Given the description of an element on the screen output the (x, y) to click on. 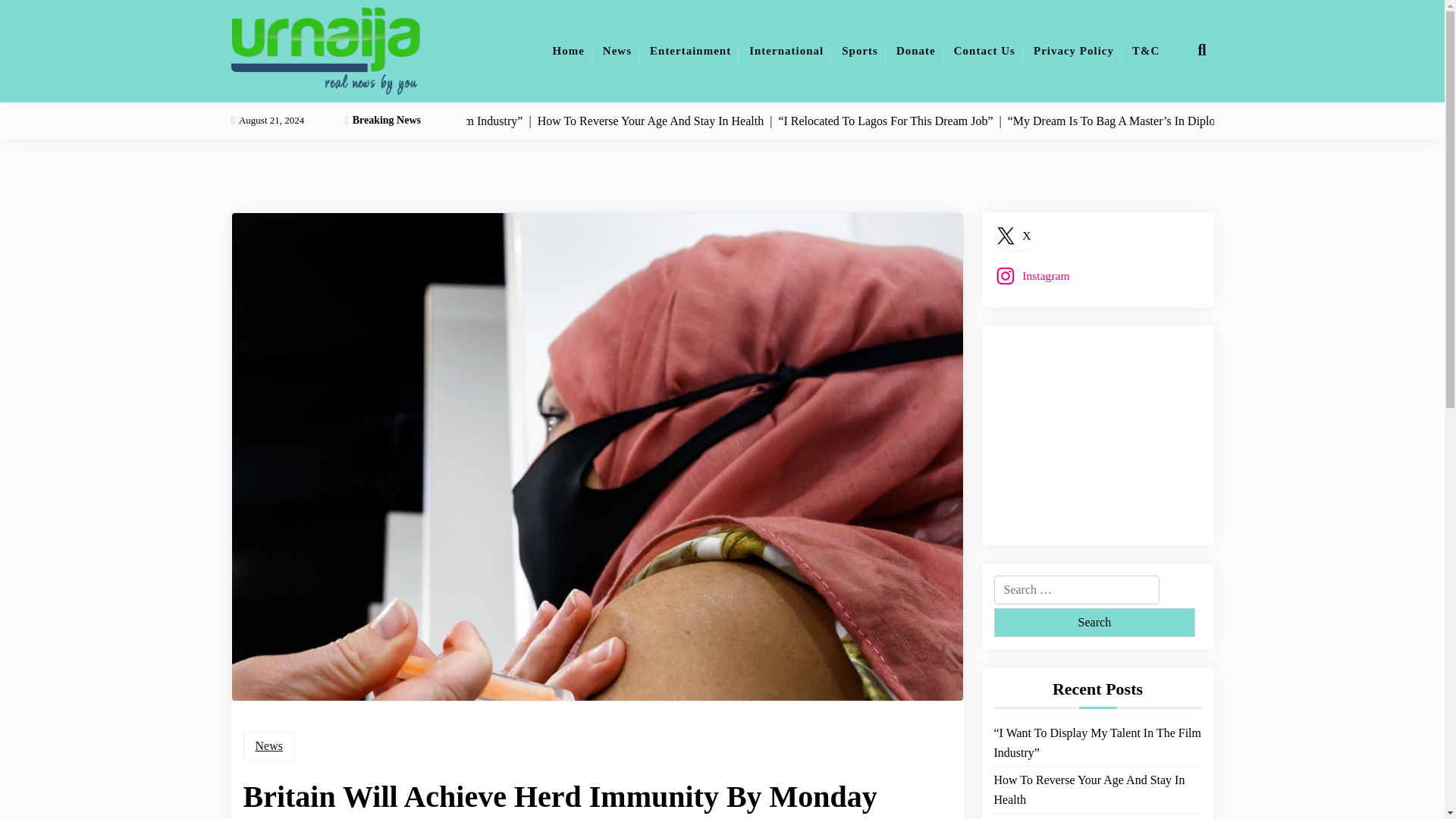
X (1014, 235)
Instagram (1033, 275)
Search (1093, 622)
Search (1093, 622)
International (786, 50)
Advertisement (1106, 432)
Donate (915, 50)
Search (1093, 622)
Home (568, 50)
Entertainment (690, 50)
